Given the description of an element on the screen output the (x, y) to click on. 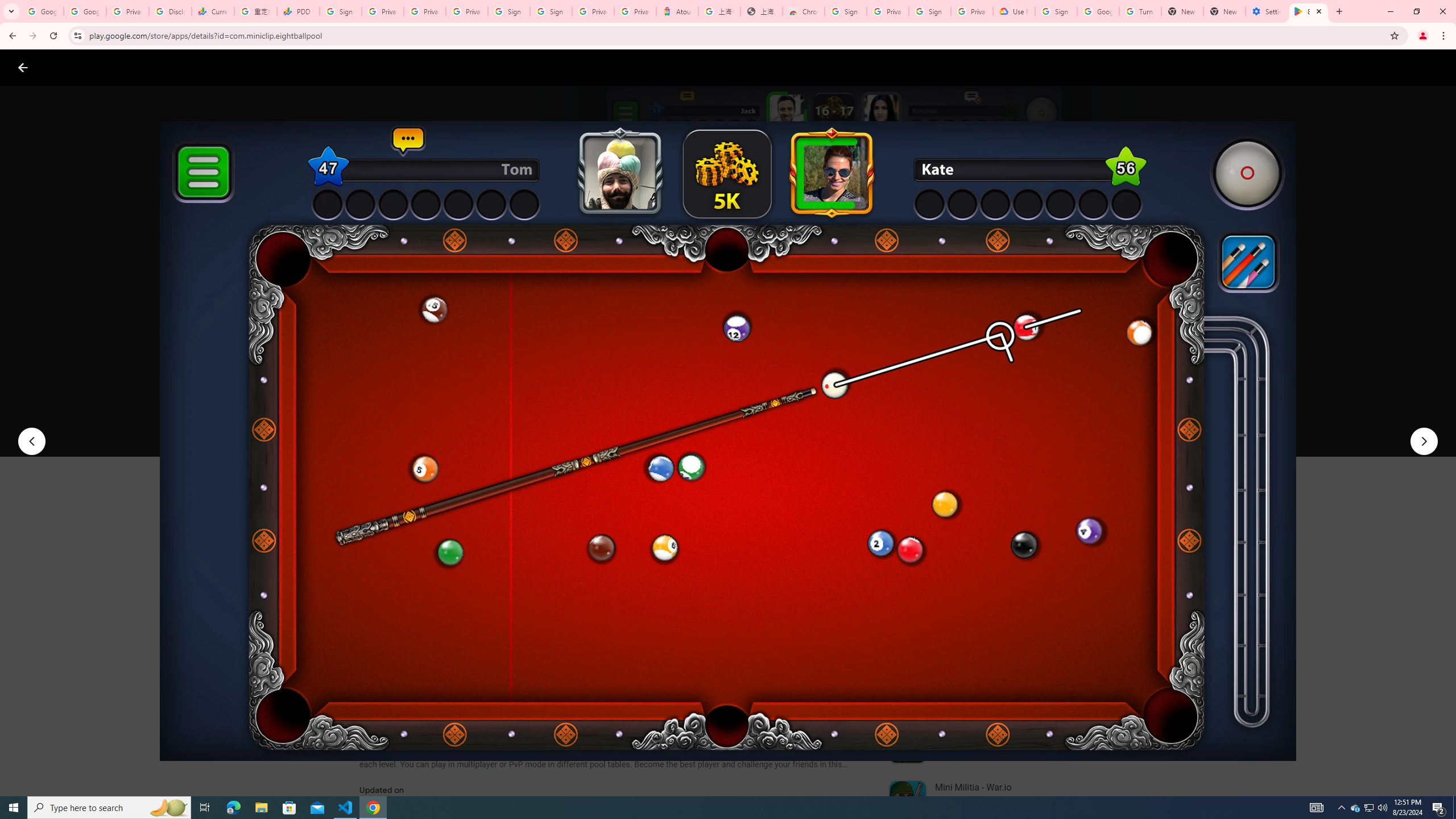
Atour Hotel - Google hotels (676, 11)
See more information on More by Miniclip.com (1029, 539)
Previous (31, 441)
Sign in - Google Accounts (509, 11)
Google Play logo (64, 67)
Settings - System (1266, 11)
Google Workspace Admin Community (42, 11)
